Given the description of an element on the screen output the (x, y) to click on. 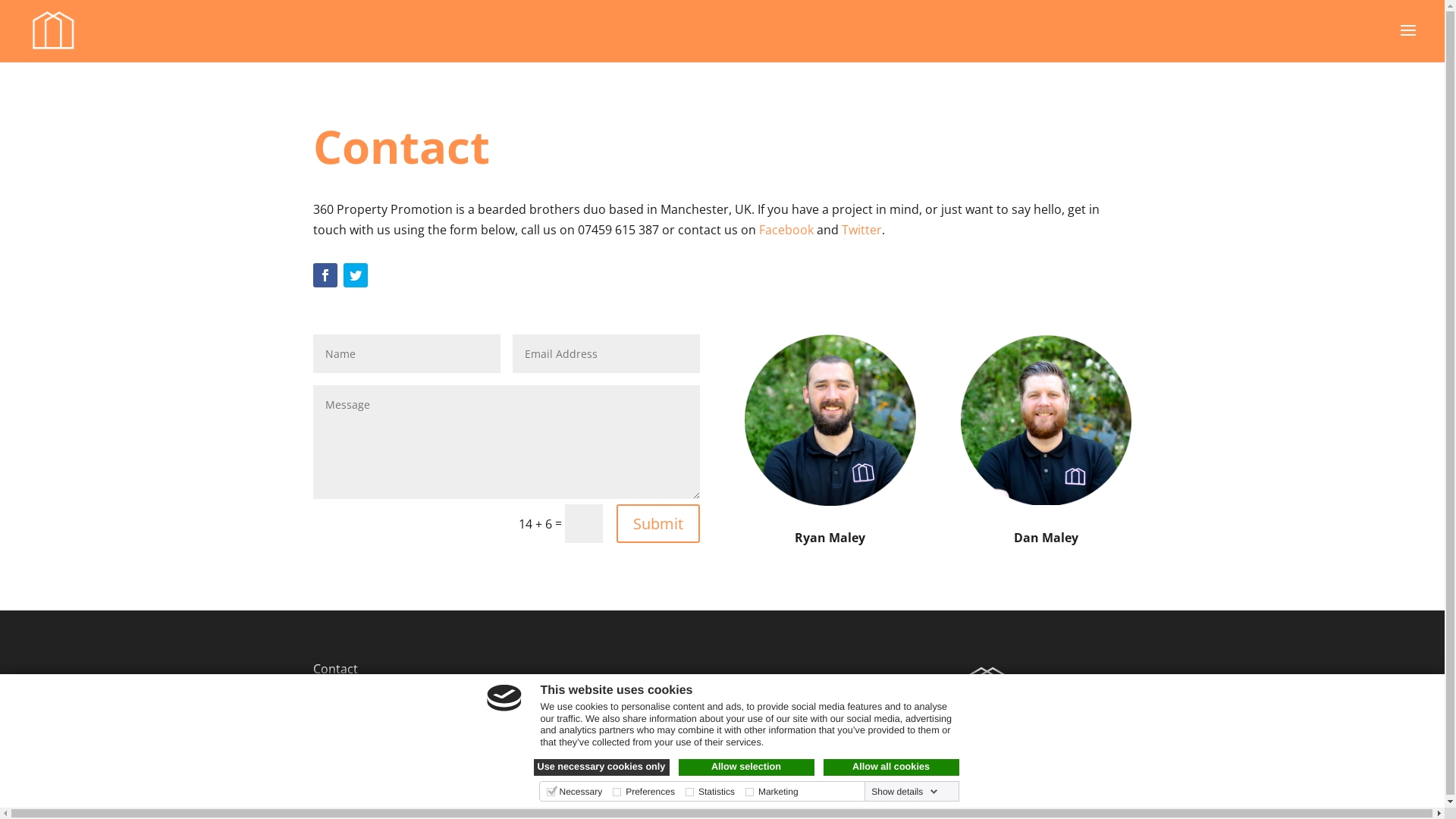
Cookie Policy Element type: text (349, 710)
Twitter Element type: text (861, 229)
Submit Element type: text (657, 523)
Contact Element type: text (334, 668)
Allow selection Element type: text (745, 767)
Facebook Element type: text (785, 229)
Ryan_Headshot Element type: hover (829, 419)
Dan_Headshot Element type: hover (1045, 419)
Follow on Facebook Element type: hover (324, 275)
Follow on Twitter Element type: hover (354, 275)
Use necessary cookies only Element type: text (601, 767)
Allow all cookies Element type: text (891, 767)
Show details Element type: text (904, 791)
Privacy Policy Element type: text (350, 688)
